Given the description of an element on the screen output the (x, y) to click on. 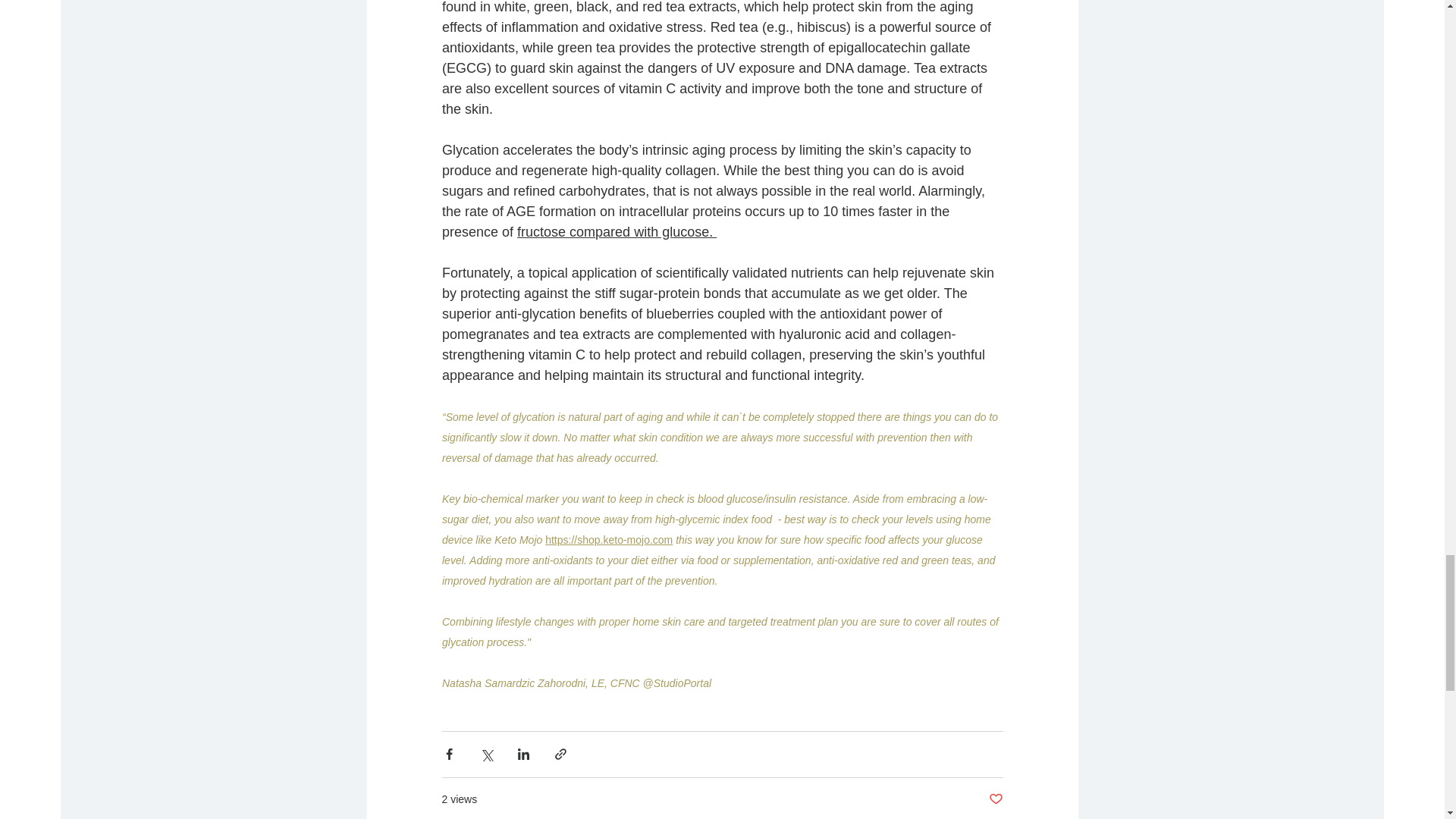
Post not marked as liked (995, 799)
